Given the description of an element on the screen output the (x, y) to click on. 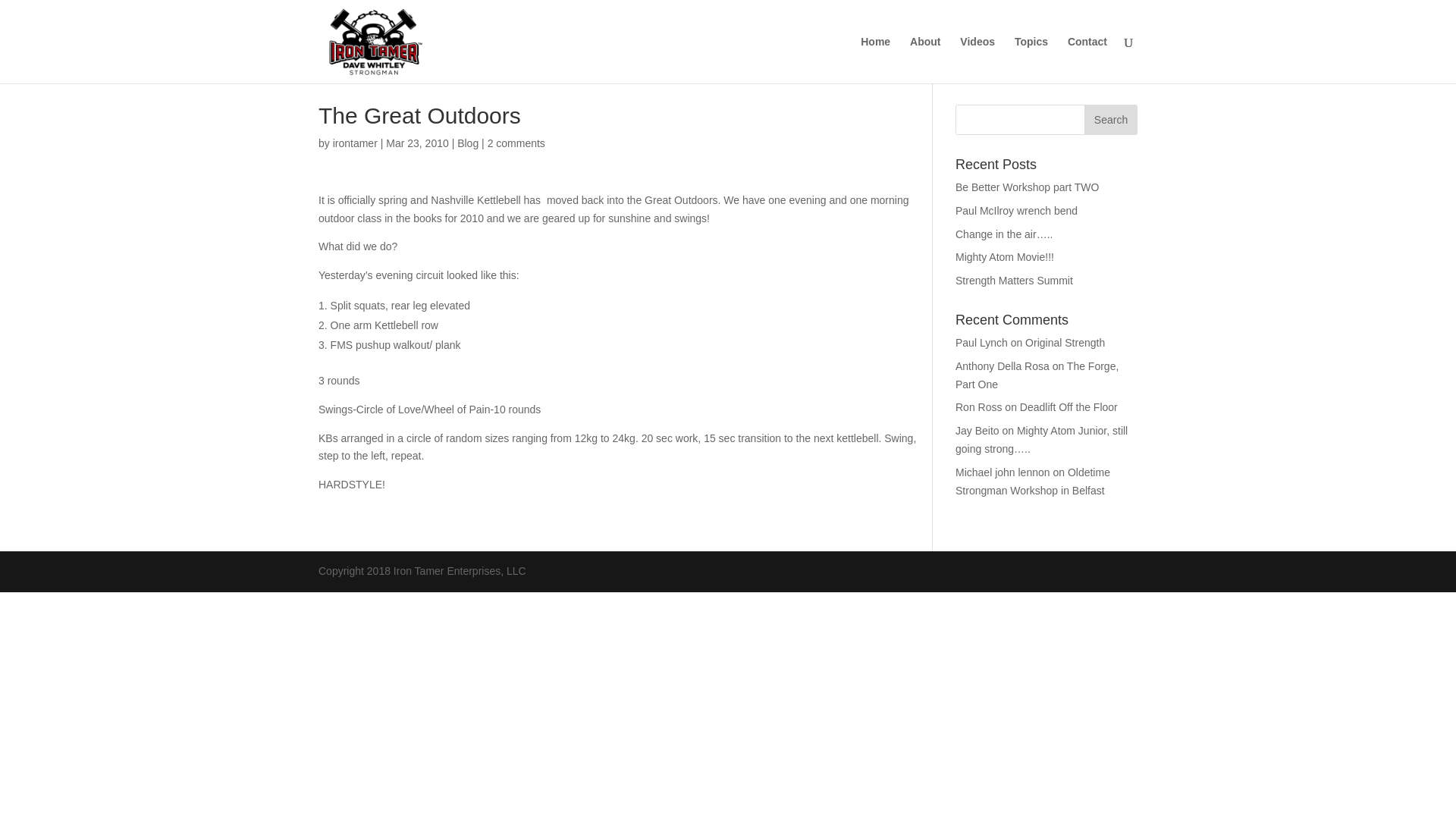
Posts by irontamer (355, 143)
Oldetime Strongman Workshop in Belfast (1032, 481)
Blog (468, 143)
Paul McIlroy wrench bend (1016, 210)
Search (1110, 119)
Jay Beito (976, 430)
Original Strength (1065, 342)
Deadlift Off the Floor (1069, 407)
irontamer (355, 143)
2 comments (515, 143)
